Given the description of an element on the screen output the (x, y) to click on. 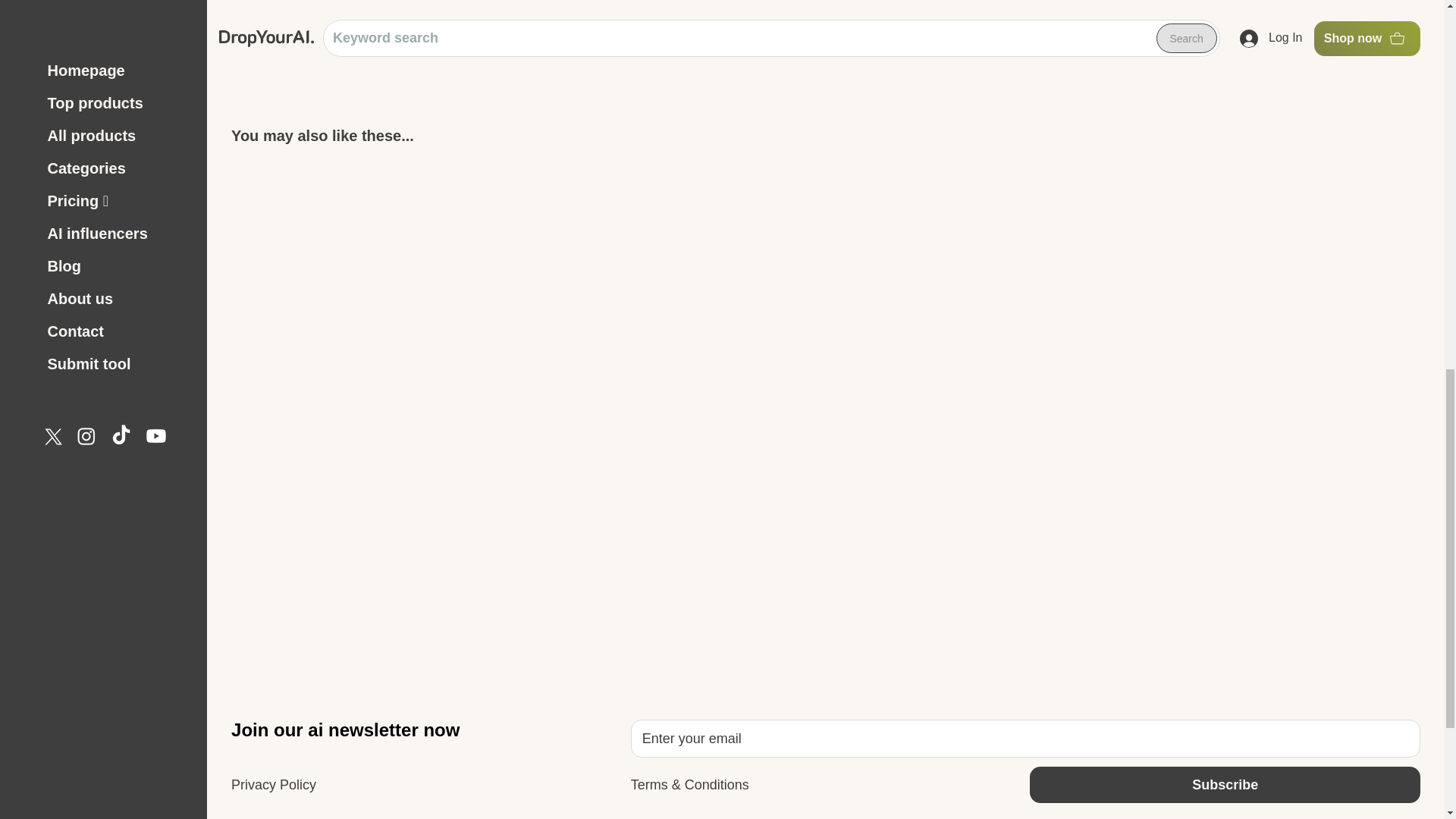
Business AI tools (282, 815)
Privacy Policy (273, 784)
